Given the description of an element on the screen output the (x, y) to click on. 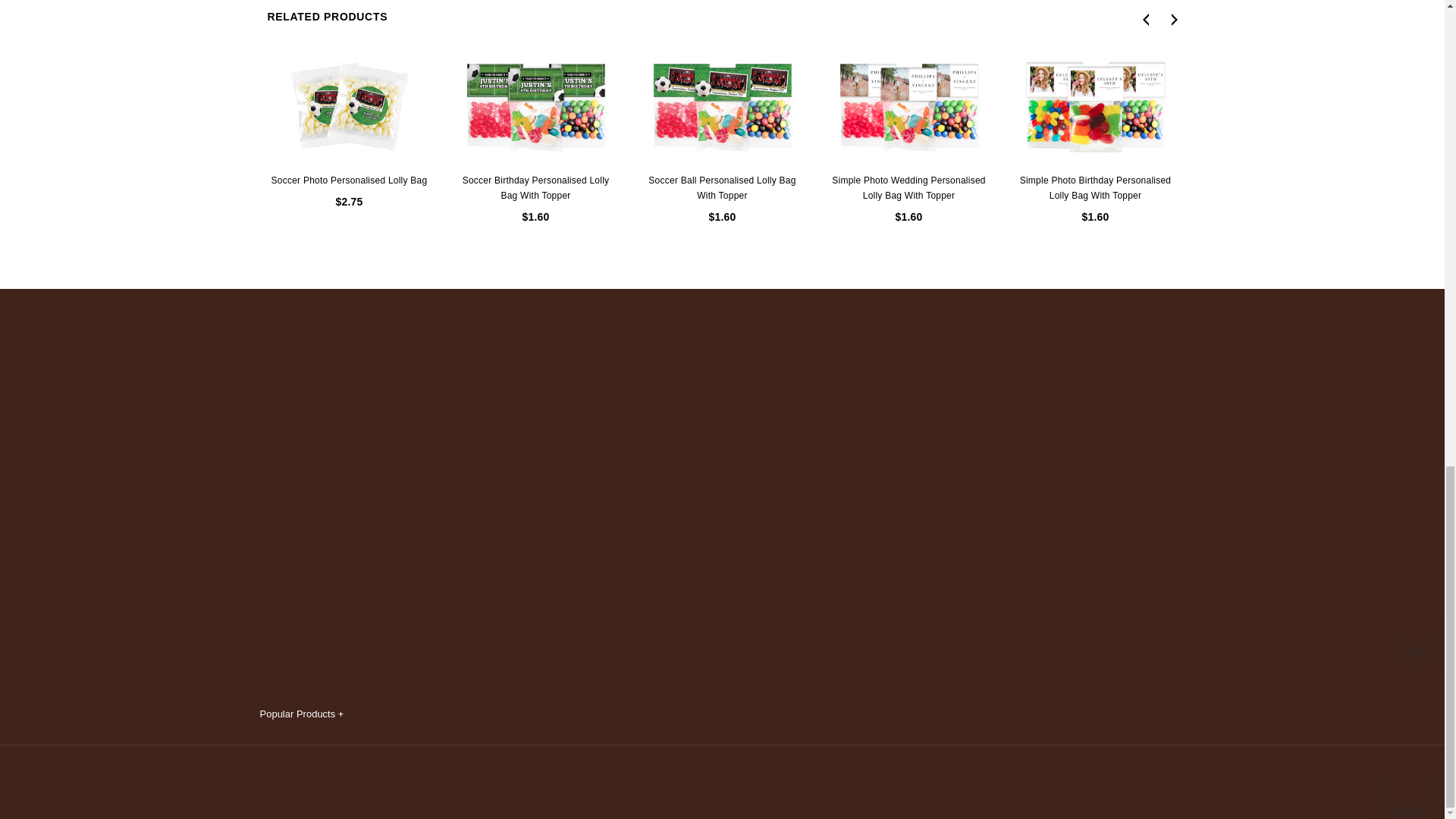
Soccer Ball Personalised Lolly Bag With Topper (721, 106)
Simple Photo Wedding Personalised Lolly Bag With Topper (908, 106)
Simple Photo Birthday Personalised Lolly Bag With Topper (1094, 106)
Soccer Birthday Personalised Lolly Bag With Topper (534, 106)
Soccer Photo Personalised Lolly Bag (348, 106)
